Given the description of an element on the screen output the (x, y) to click on. 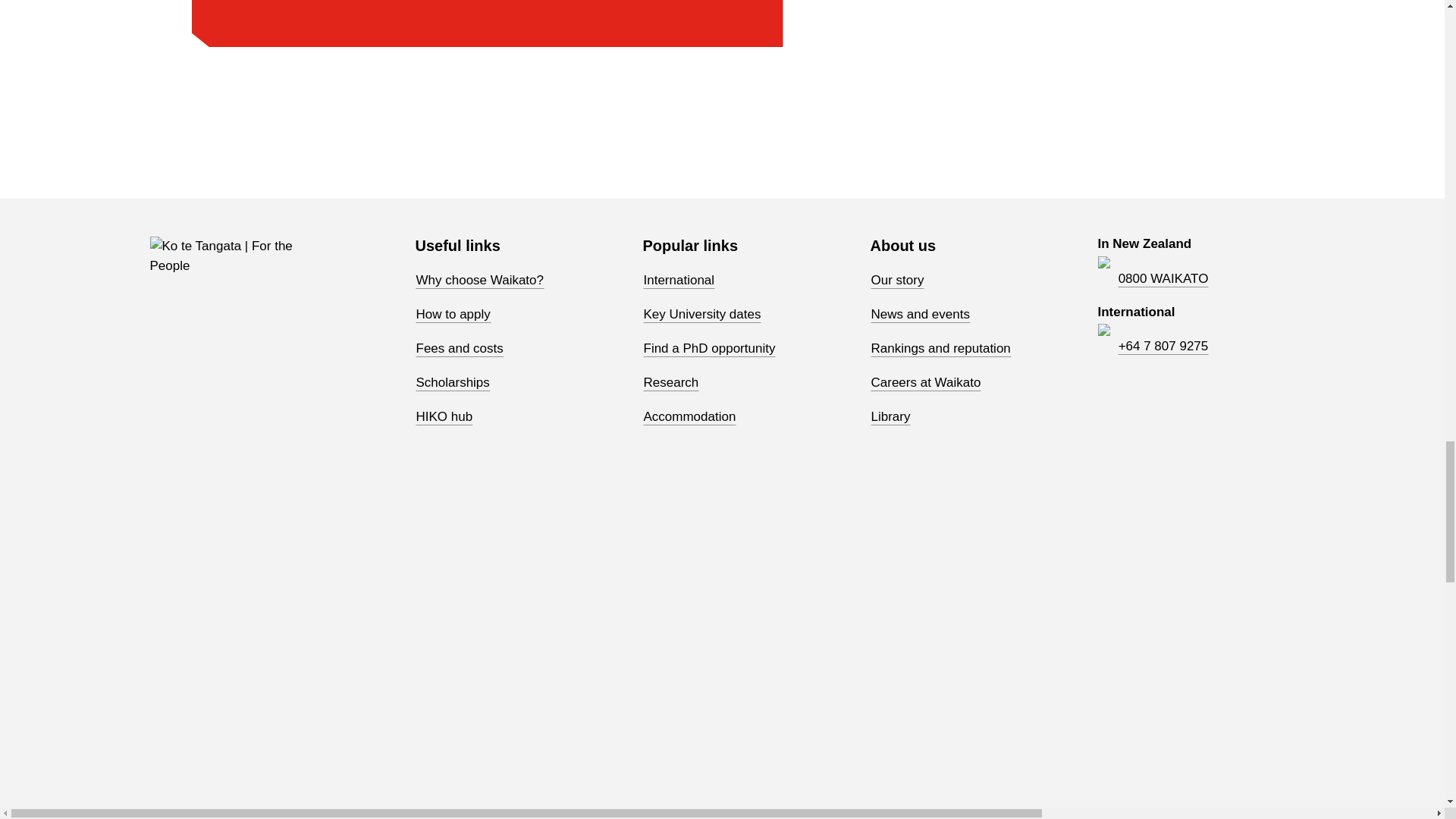
How to apply (453, 314)
Scholarships (452, 382)
Find a PhD opportunity (709, 348)
Return to home (224, 263)
Fees and costs (458, 348)
Key University dates (702, 314)
International (679, 280)
Why choose Waikato? (479, 280)
HIKO hub (444, 416)
Research (671, 382)
